Given the description of an element on the screen output the (x, y) to click on. 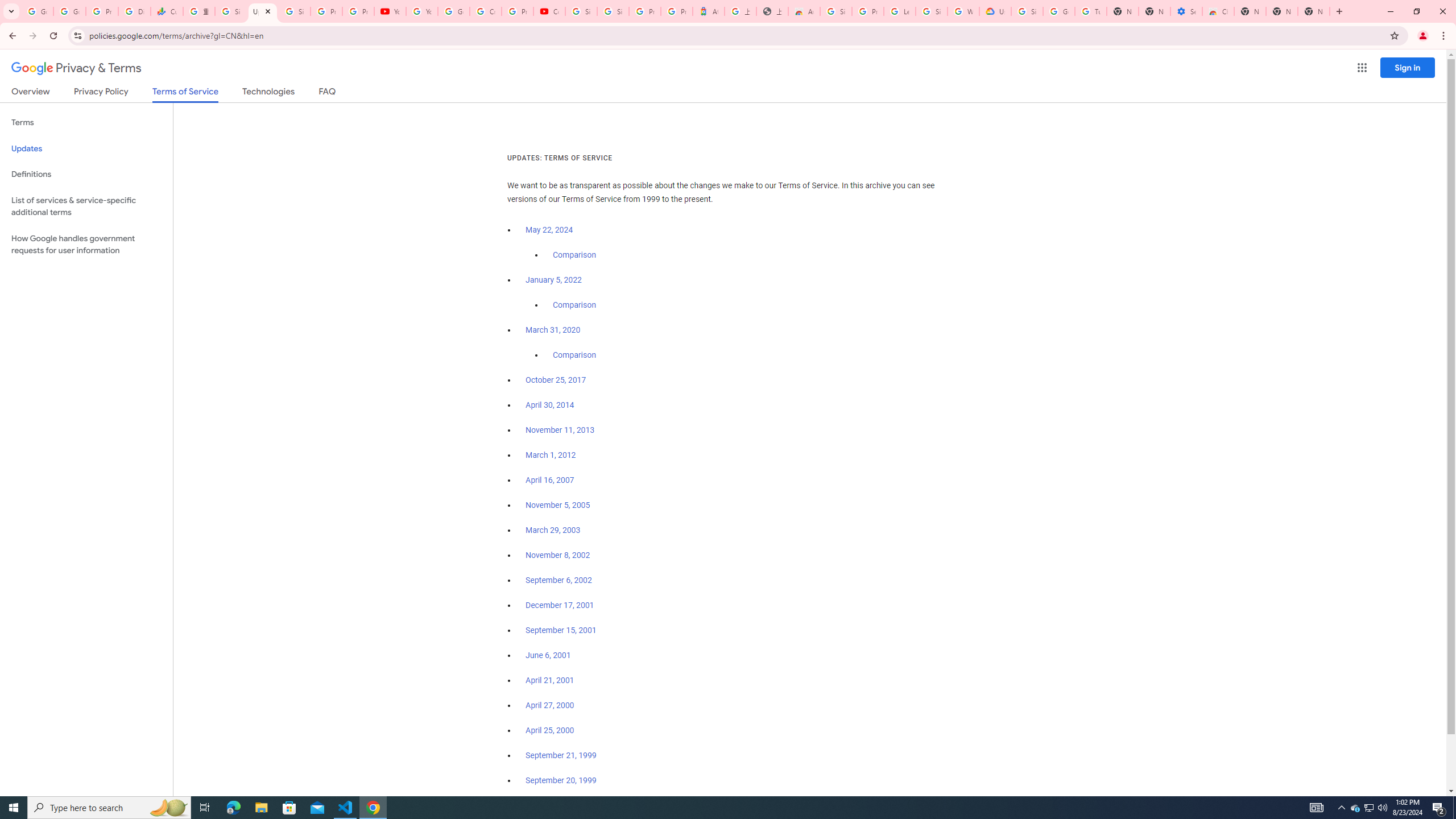
Overview (30, 93)
September 6, 2002 (558, 579)
November 11, 2013 (560, 430)
Google Workspace Admin Community (37, 11)
Privacy Checkup (358, 11)
List of services & service-specific additional terms (86, 206)
Sign in - Google Accounts (836, 11)
Terms (86, 122)
Sign in - Google Accounts (1027, 11)
Create your Google Account (485, 11)
Currencies - Google Finance (166, 11)
December 17, 2001 (559, 605)
Settings - Accessibility (1185, 11)
New Tab (1249, 11)
